Given the description of an element on the screen output the (x, y) to click on. 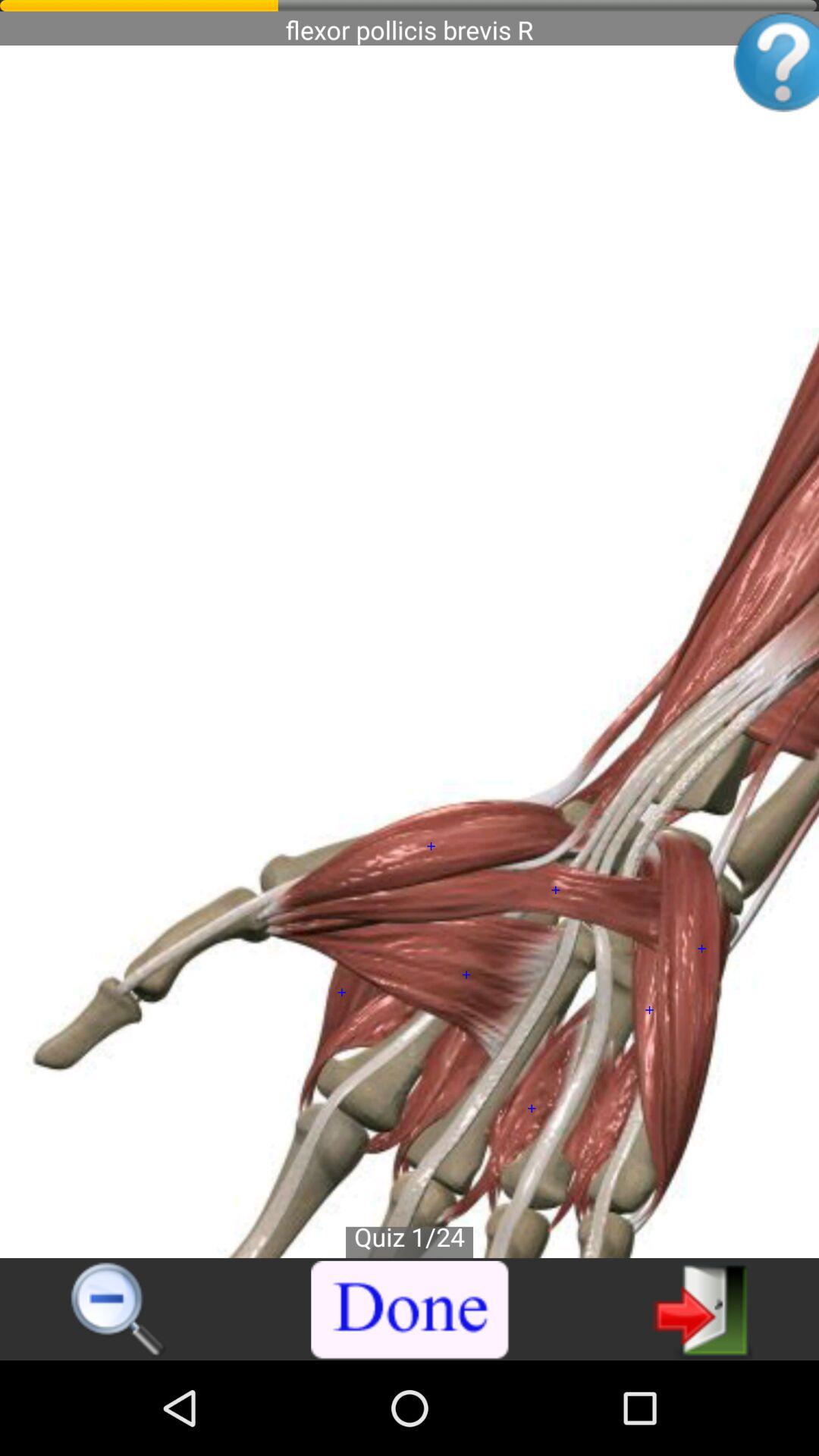
zoom out (118, 1310)
